Given the description of an element on the screen output the (x, y) to click on. 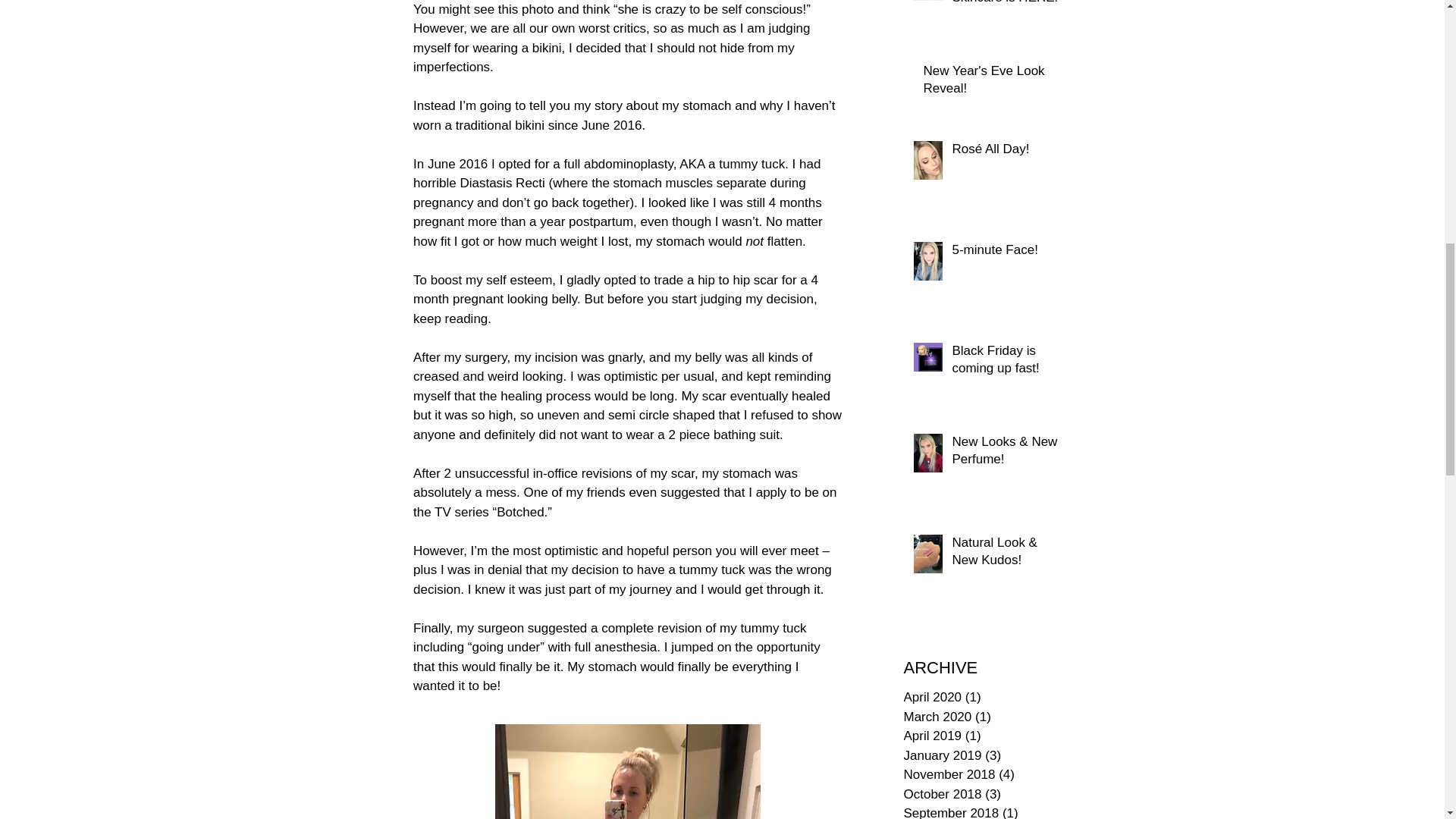
Black Friday is coming up fast! (1006, 363)
5-minute Face! (1006, 252)
New Year's Eve Look Reveal! (992, 83)
Customized Skincare is HERE! (1006, 6)
